Given the description of an element on the screen output the (x, y) to click on. 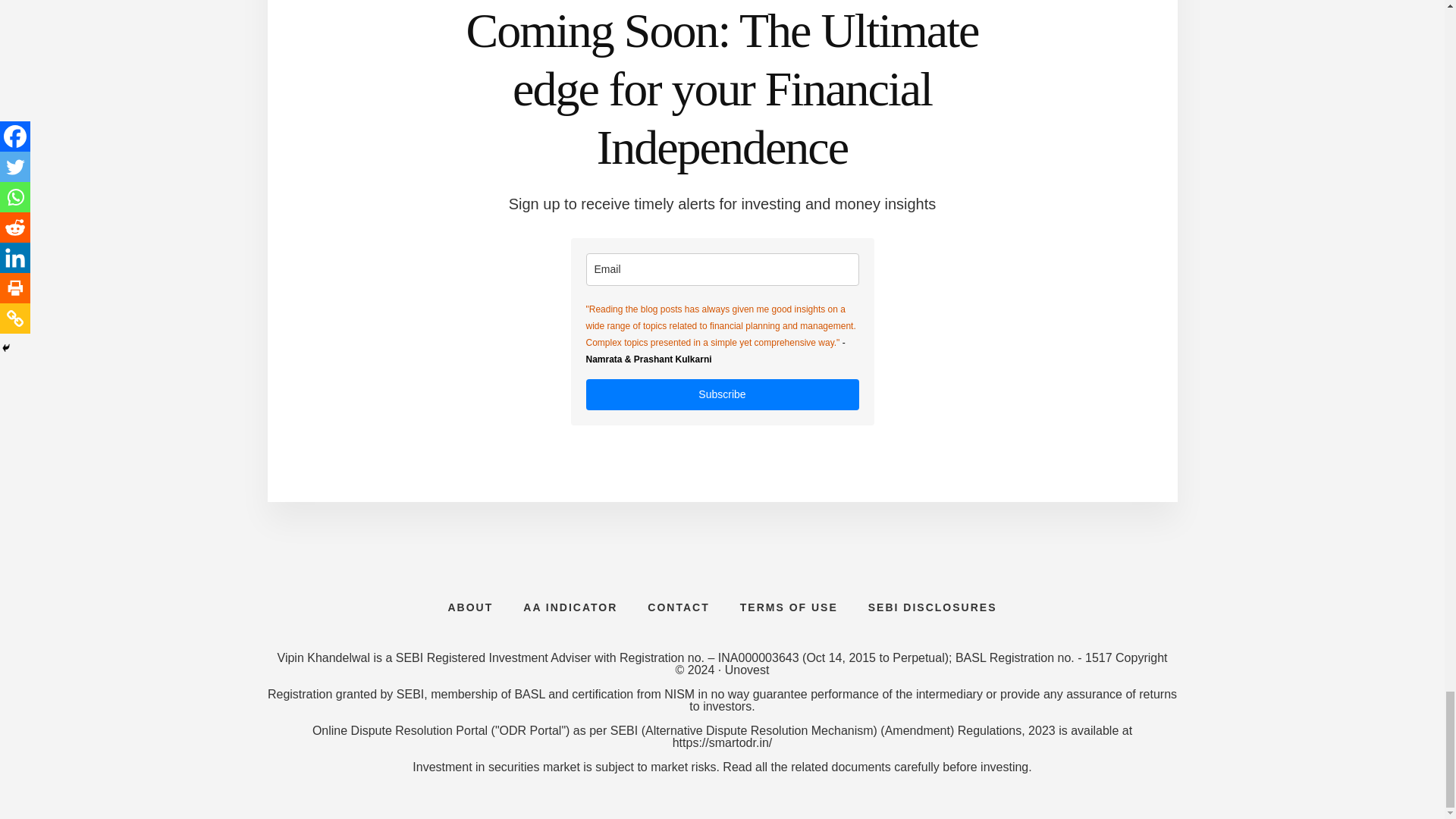
Subscribe (722, 394)
